Given the description of an element on the screen output the (x, y) to click on. 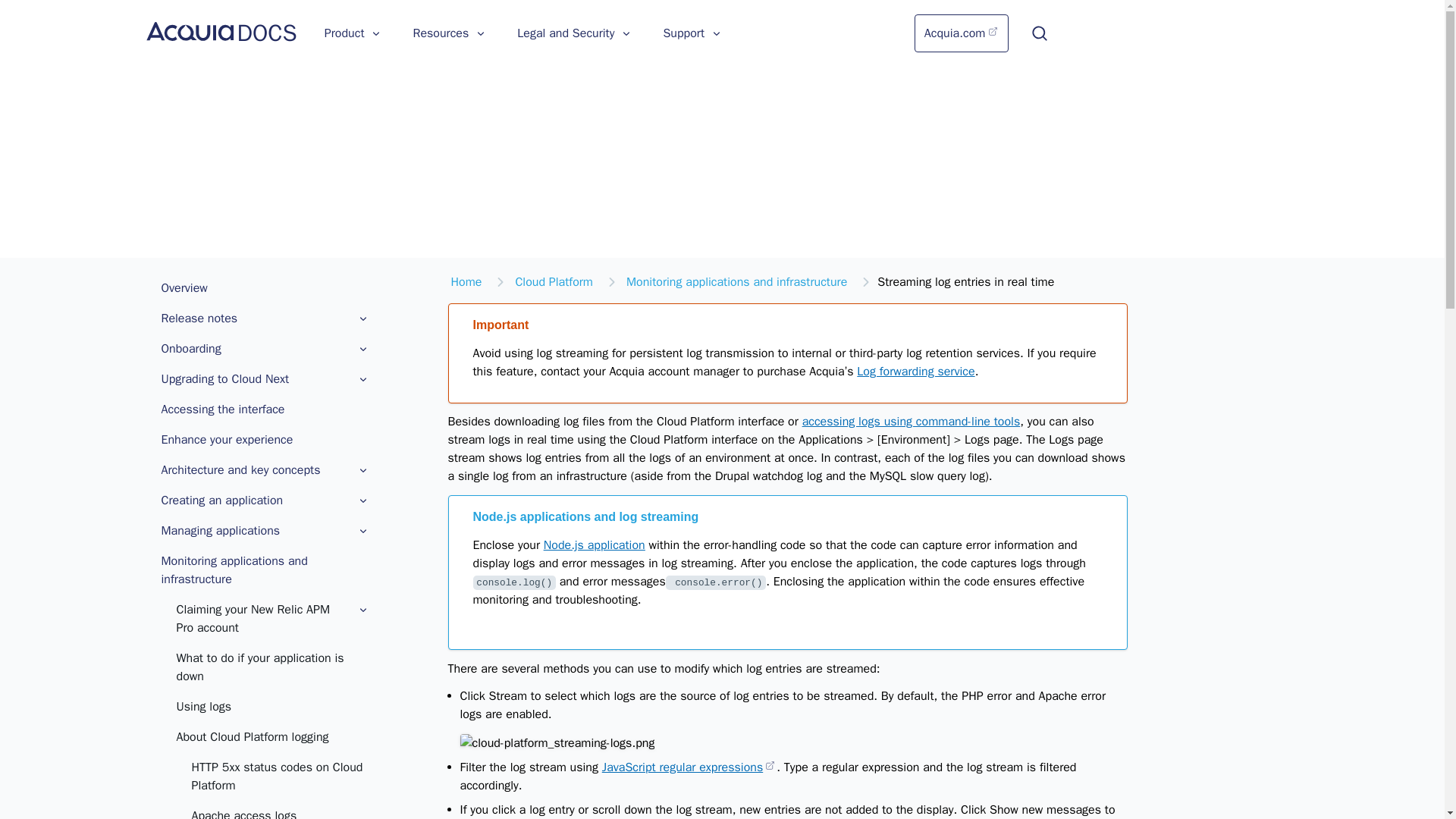
Product (353, 33)
Creating an application (264, 500)
Acquia.com (961, 33)
About Cloud Platform logging (272, 737)
Support (692, 33)
Legal and Security (575, 33)
Monitoring applications and infrastructure (264, 569)
Release notes (264, 318)
Click to enlarge (556, 742)
What to do if your application is down (272, 667)
